Given the description of an element on the screen output the (x, y) to click on. 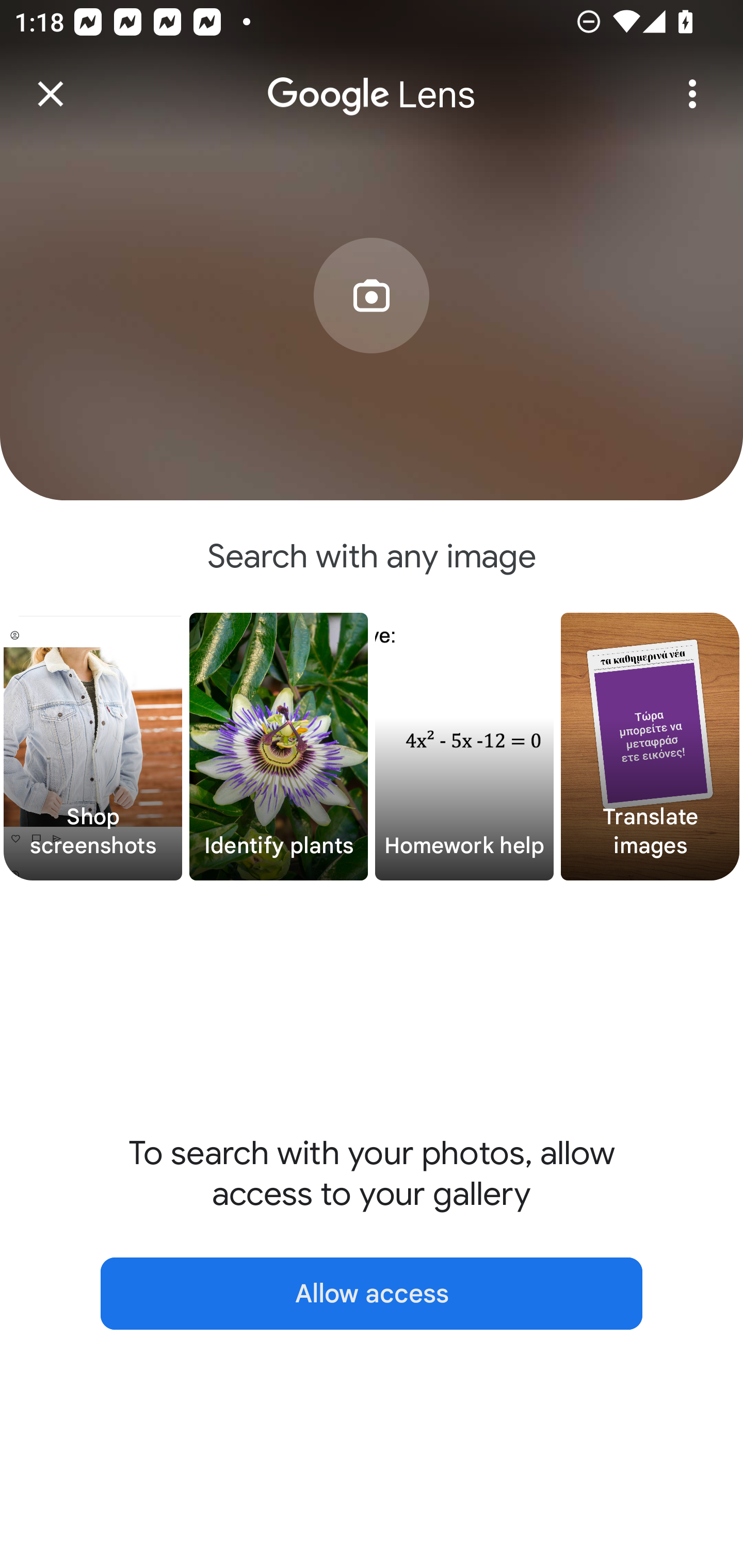
Google Lens Lens (371, 80)
Close (50, 94)
More options (692, 94)
Search with your camera (371, 326)
Shop screenshots (92, 747)
Identify plants (278, 747)
Homework help (464, 747)
Translate images (649, 747)
Allow access (371, 1293)
